Given the description of an element on the screen output the (x, y) to click on. 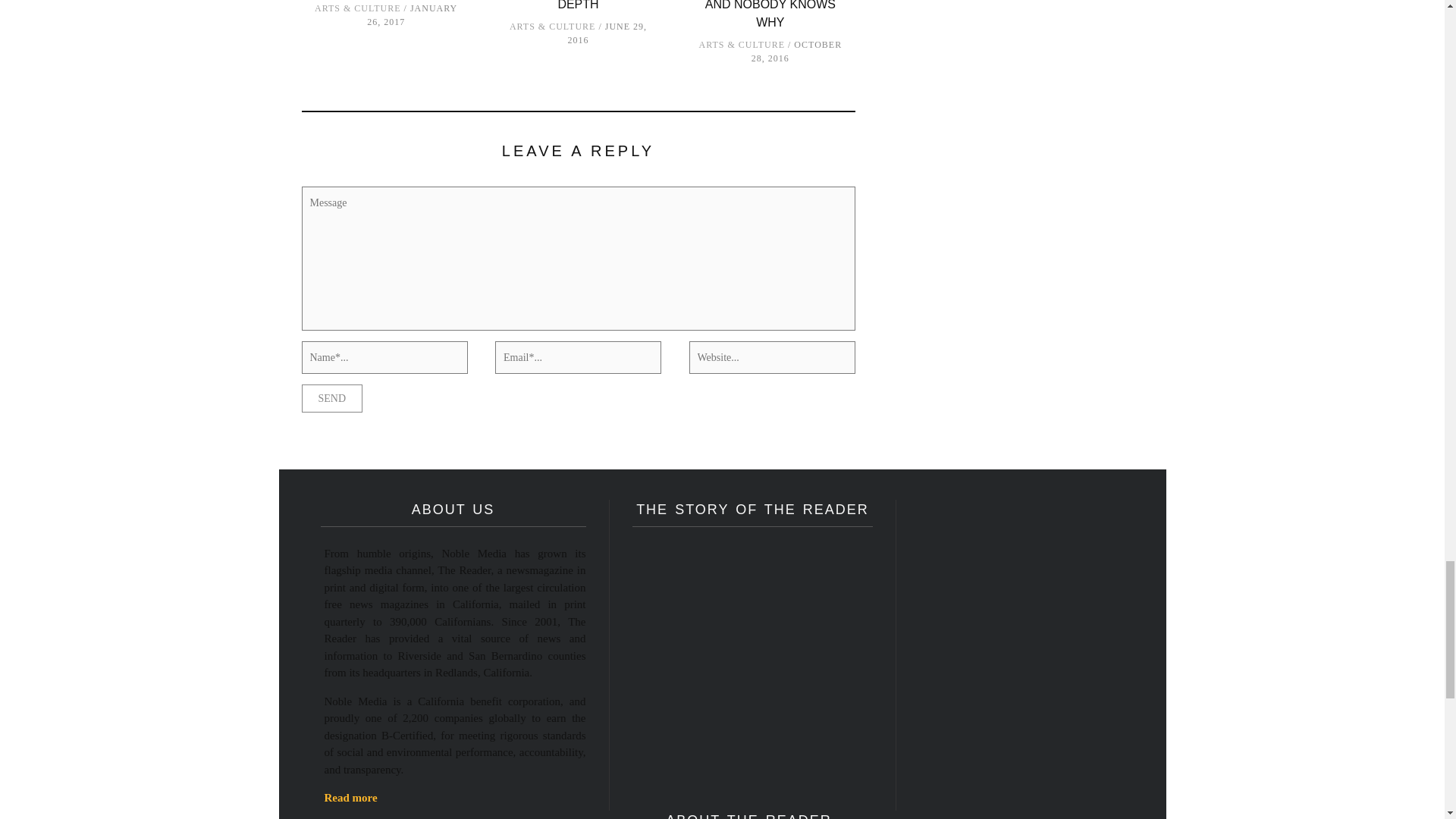
Send (331, 398)
